Given the description of an element on the screen output the (x, y) to click on. 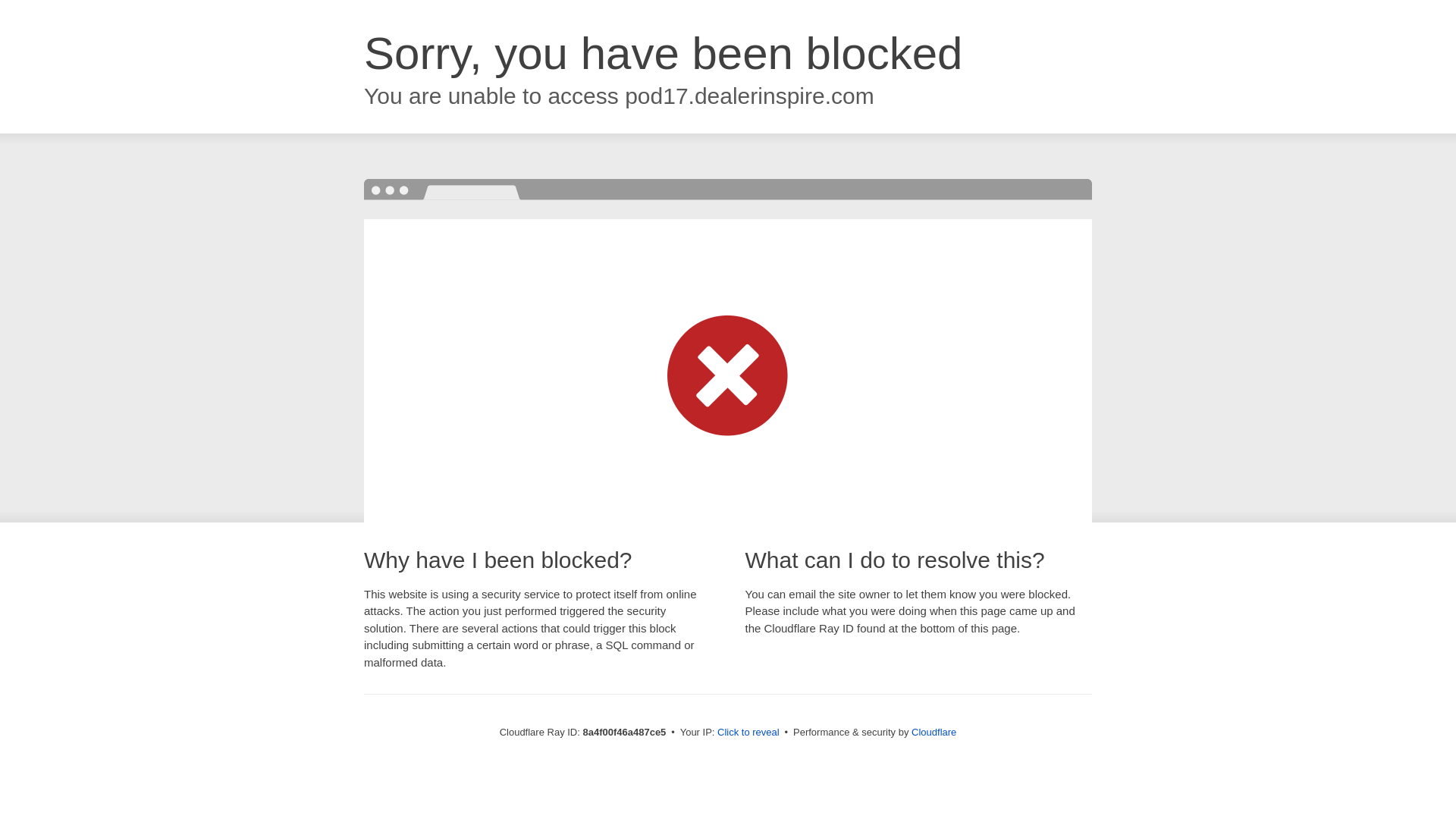
Click to reveal (747, 732)
Cloudflare (933, 731)
